Given the description of an element on the screen output the (x, y) to click on. 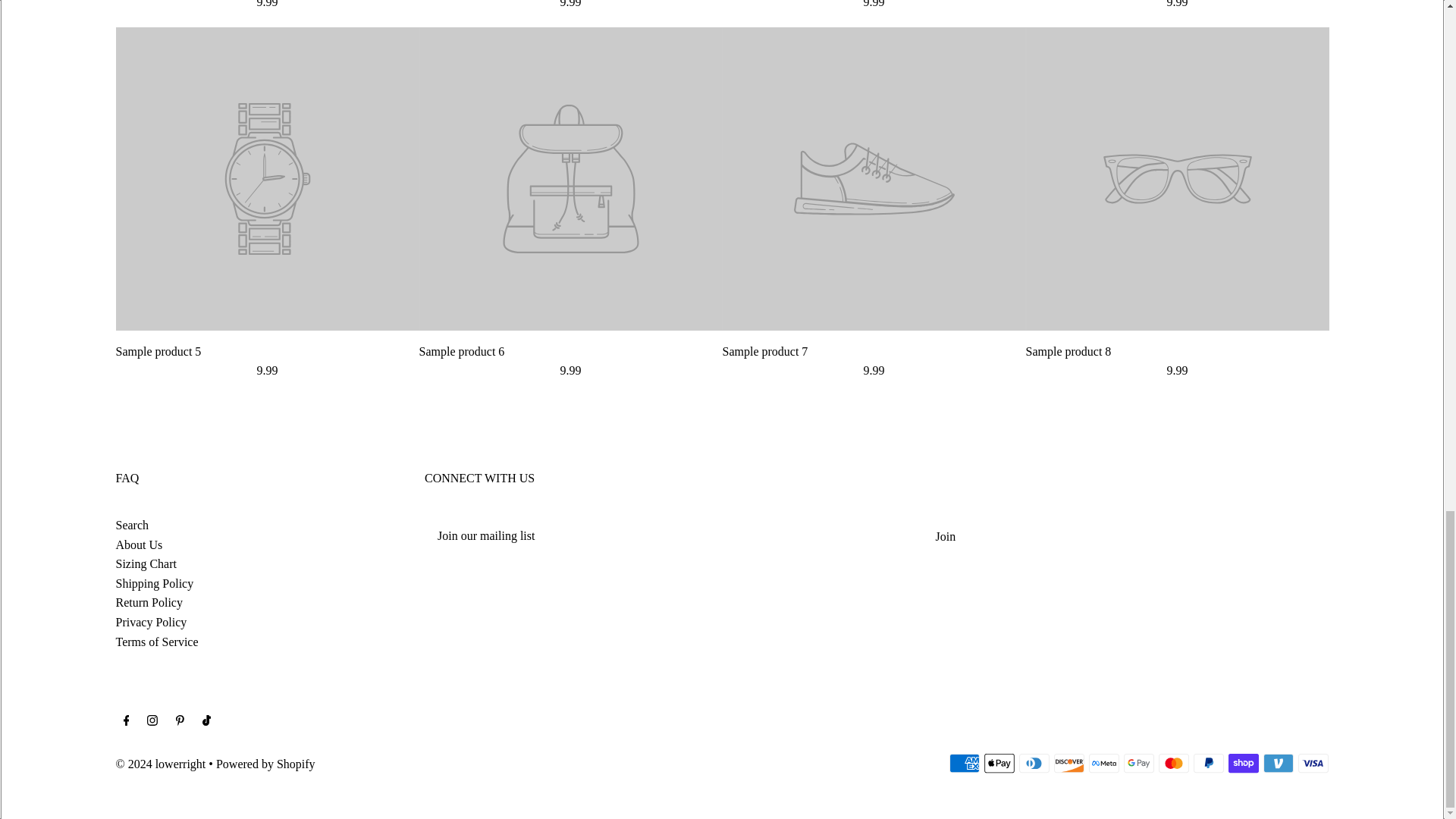
Join (945, 535)
Sample product (267, 351)
Sample product (873, 351)
Sample product (570, 351)
Sample product (1176, 351)
